Given the description of an element on the screen output the (x, y) to click on. 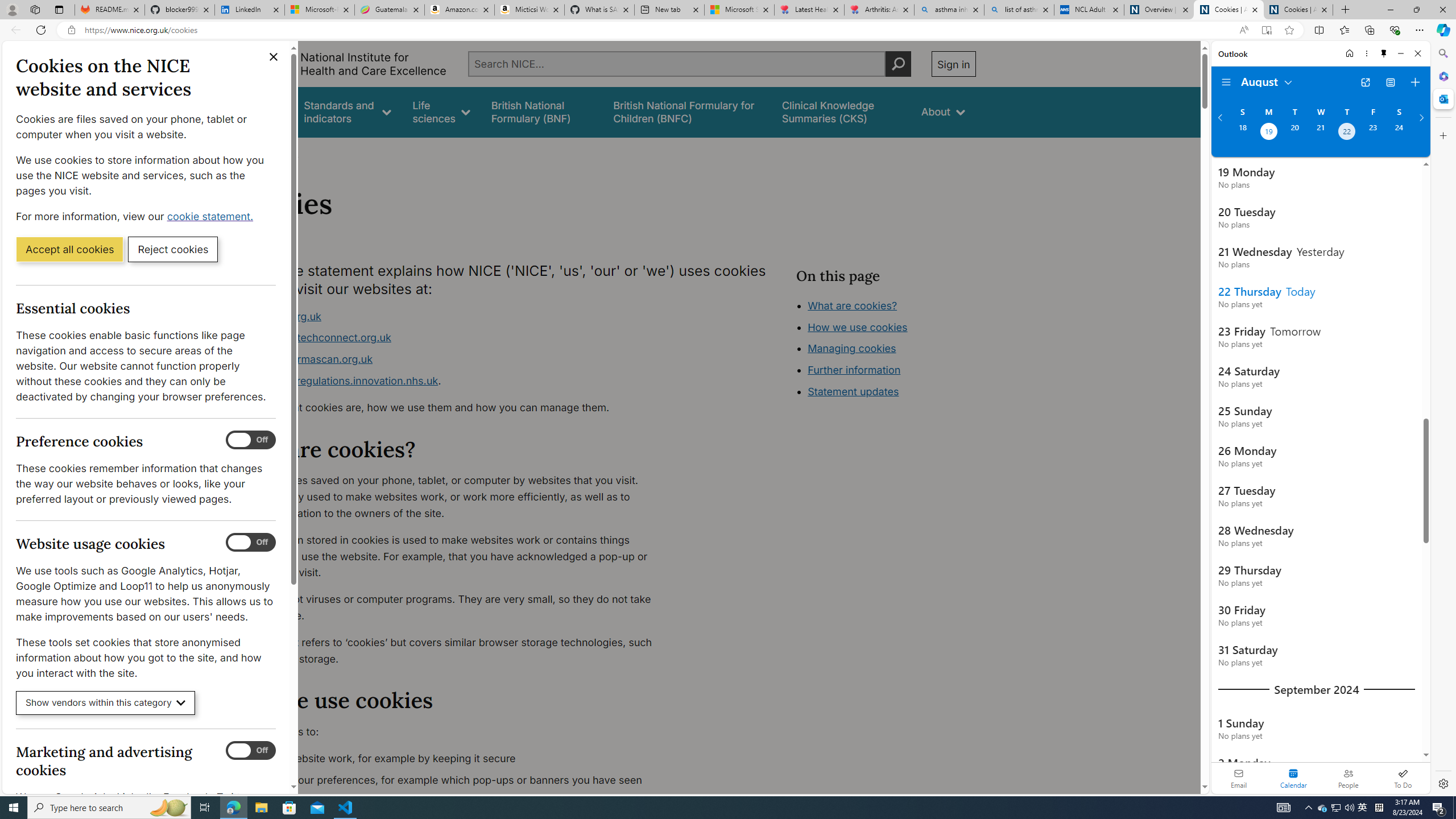
www.ukpharmascan.org.uk (452, 359)
list of asthma inhalers uk - Search (1018, 9)
Home> (246, 152)
Life sciences (440, 111)
Marketing and advertising cookies (250, 750)
Tuesday, August 20, 2024.  (1294, 132)
Microsoft-Report a Concern to Bing (319, 9)
Home (1348, 53)
Microsoft Start (738, 9)
